Given the description of an element on the screen output the (x, y) to click on. 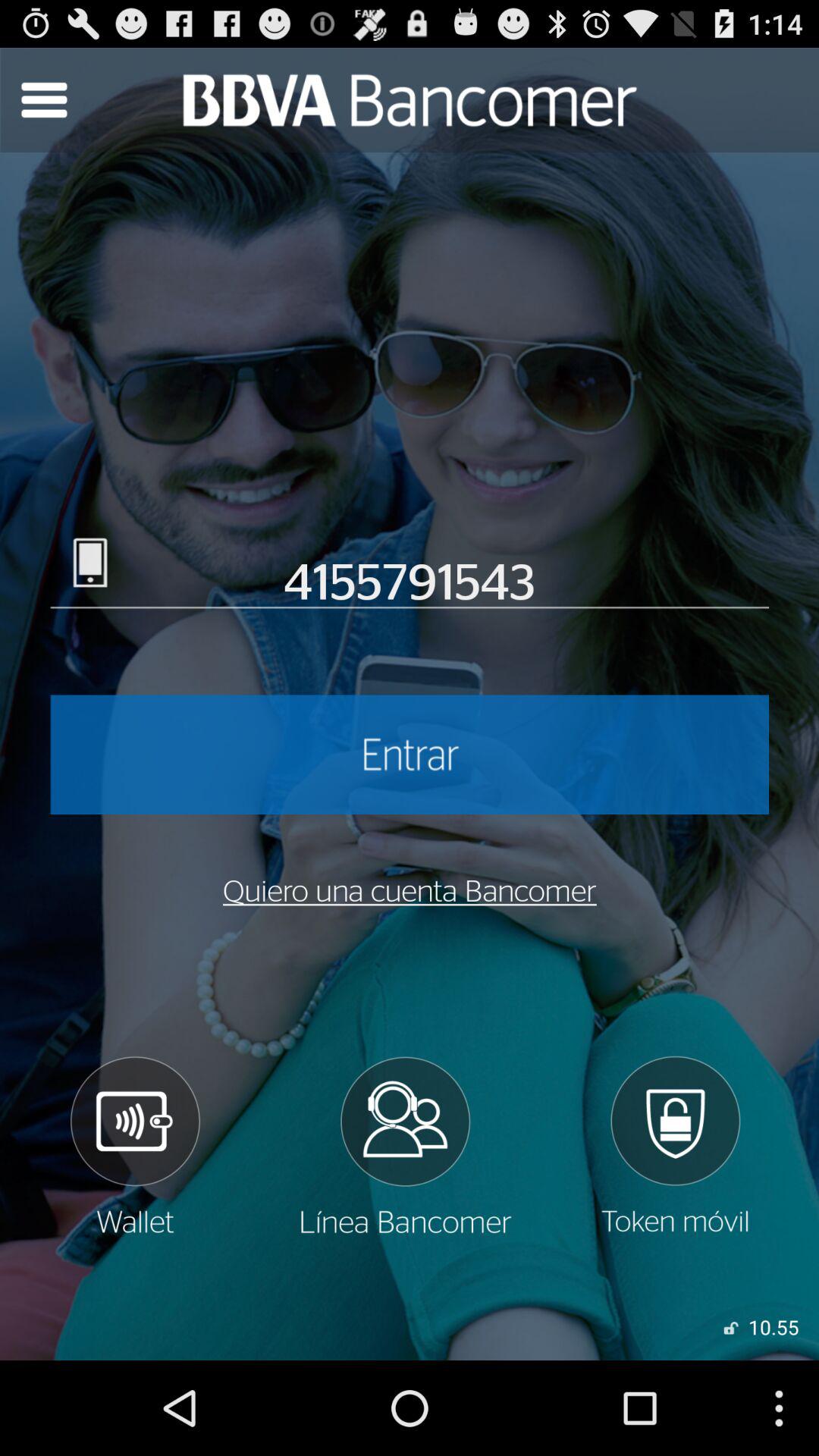
speaker (134, 1145)
